Given the description of an element on the screen output the (x, y) to click on. 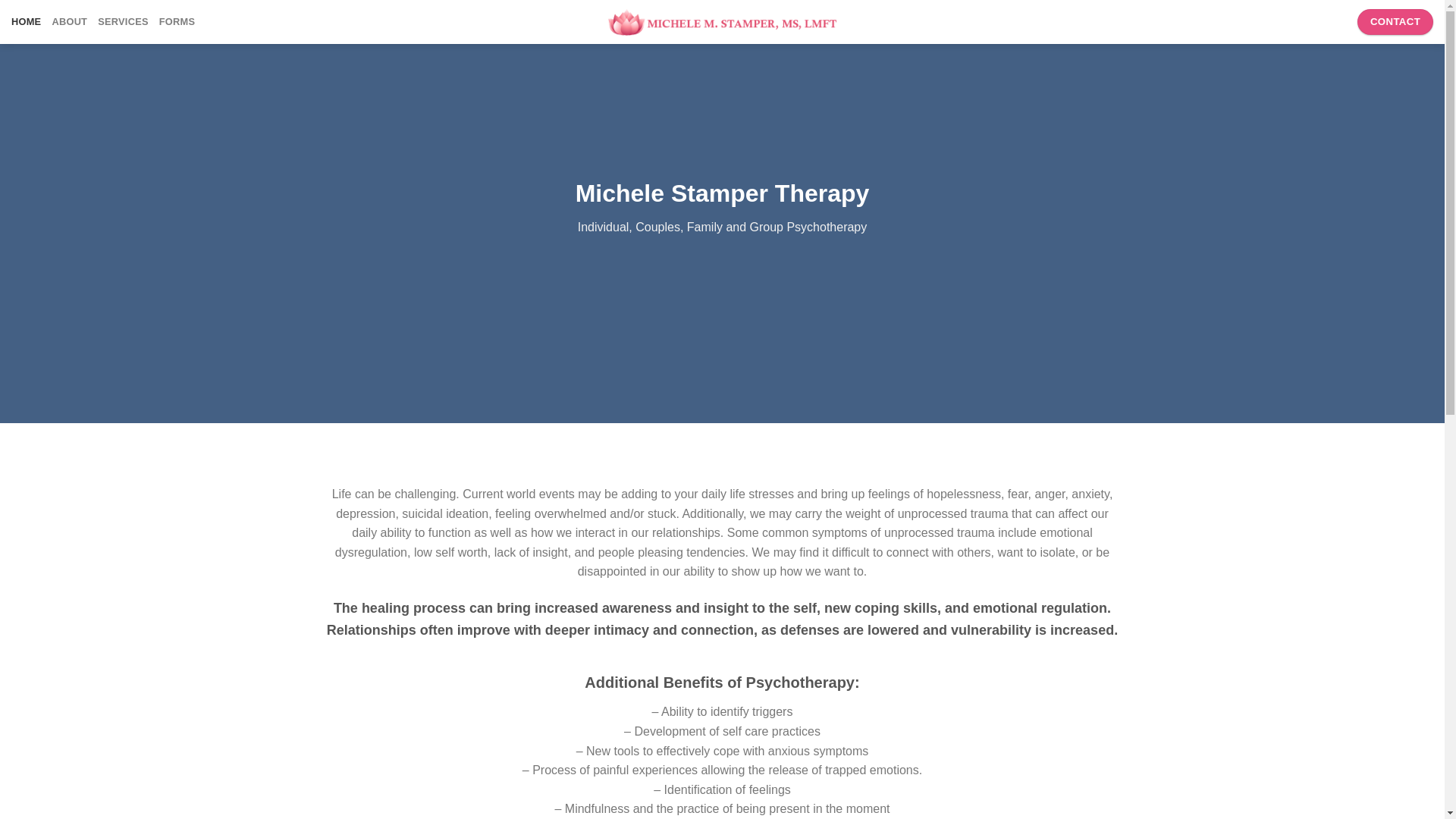
Michele Stamper Therapy (722, 21)
FORMS (176, 21)
SERVICES (122, 21)
HOME (25, 21)
ABOUT (68, 21)
CONTACT (1394, 22)
